Given the description of an element on the screen output the (x, y) to click on. 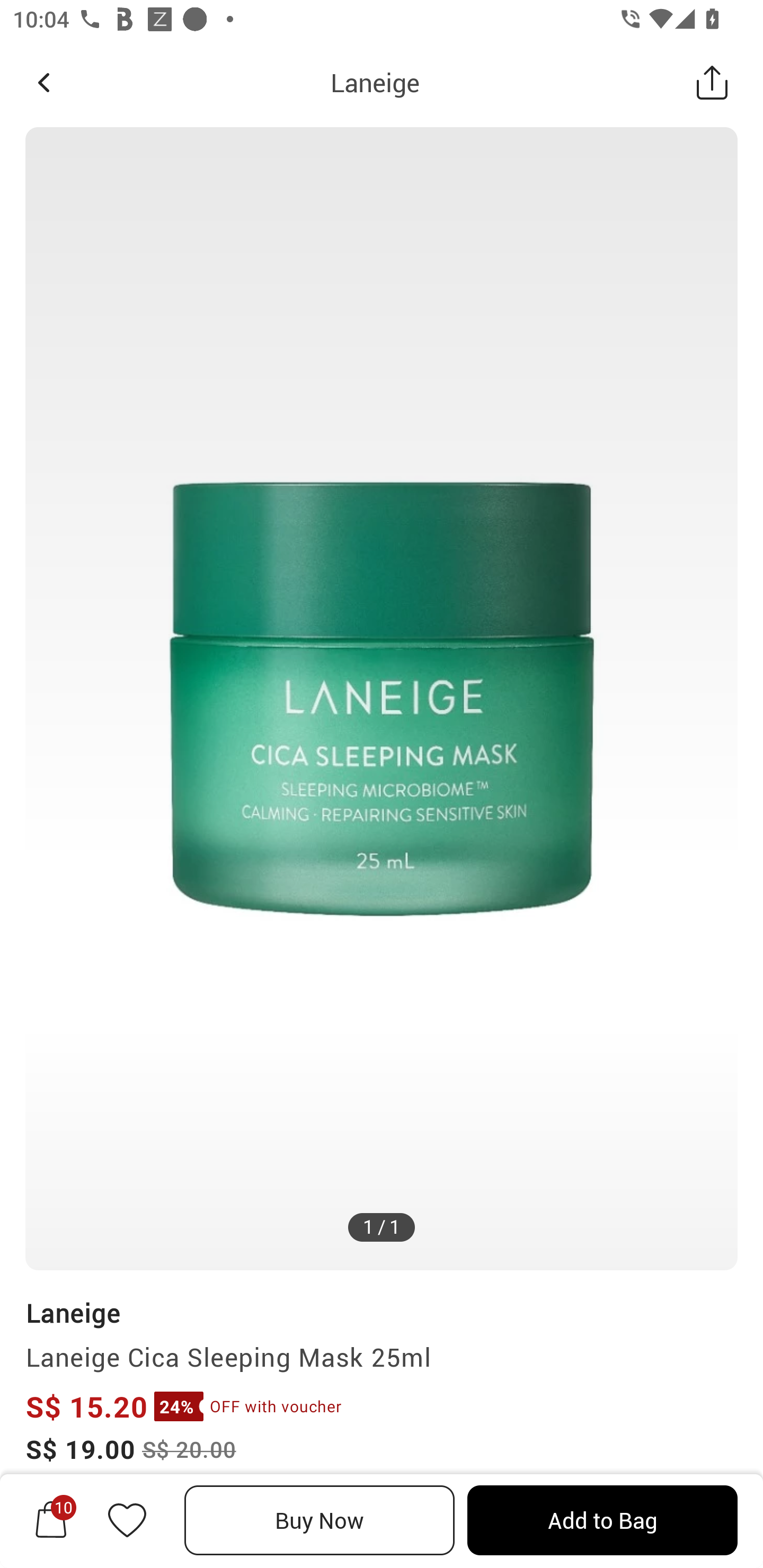
Laneige (375, 82)
Share this Product (711, 82)
Laneige (72, 1312)
Buy Now (319, 1519)
Add to Bag (601, 1519)
10 (50, 1520)
